Given the description of an element on the screen output the (x, y) to click on. 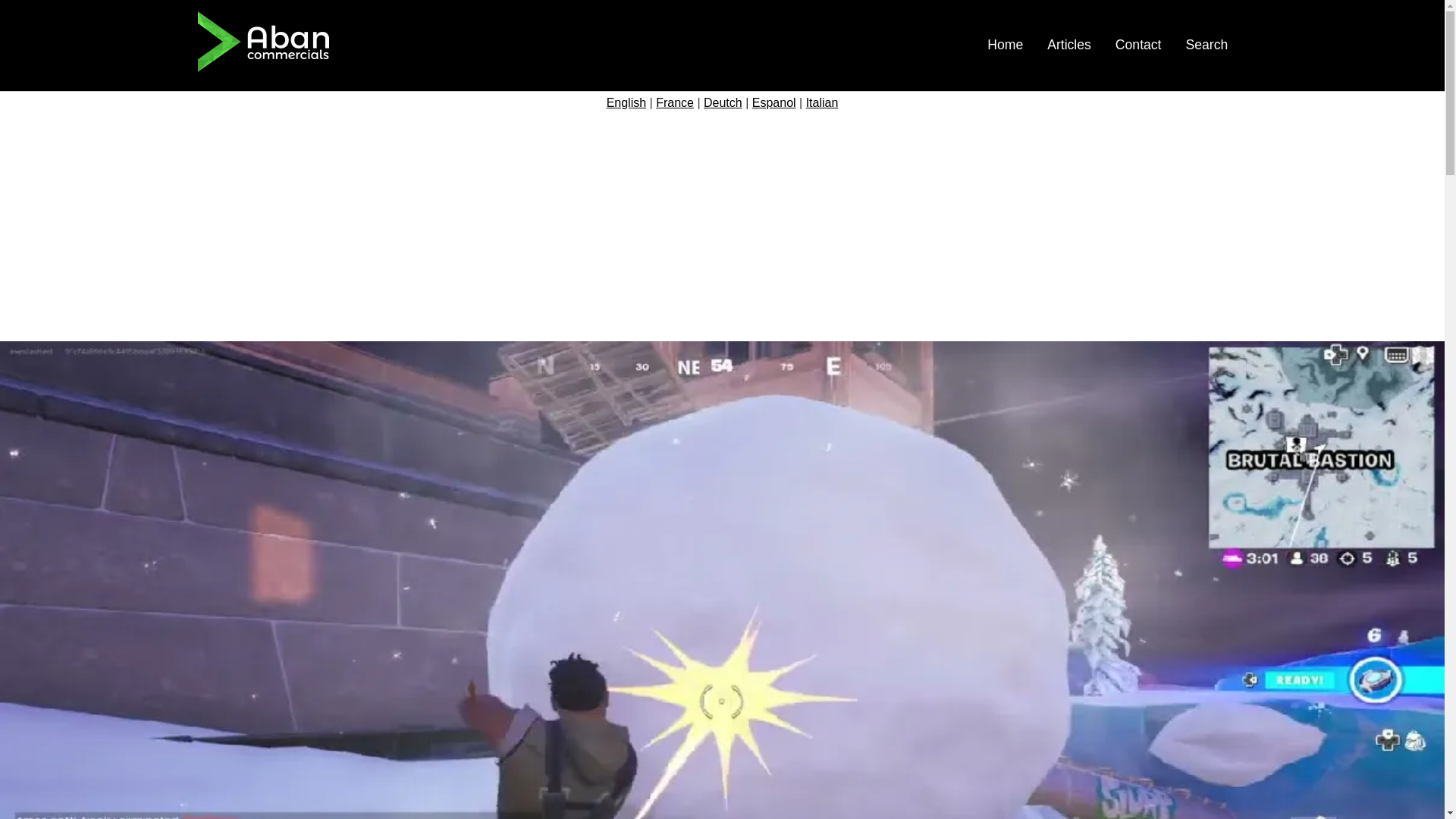
Contact (1138, 44)
France (675, 102)
Deutch (722, 102)
Espanol (774, 102)
English (626, 102)
Italian (822, 102)
Search (1207, 44)
Articles (1068, 44)
Home (1005, 44)
